Given the description of an element on the screen output the (x, y) to click on. 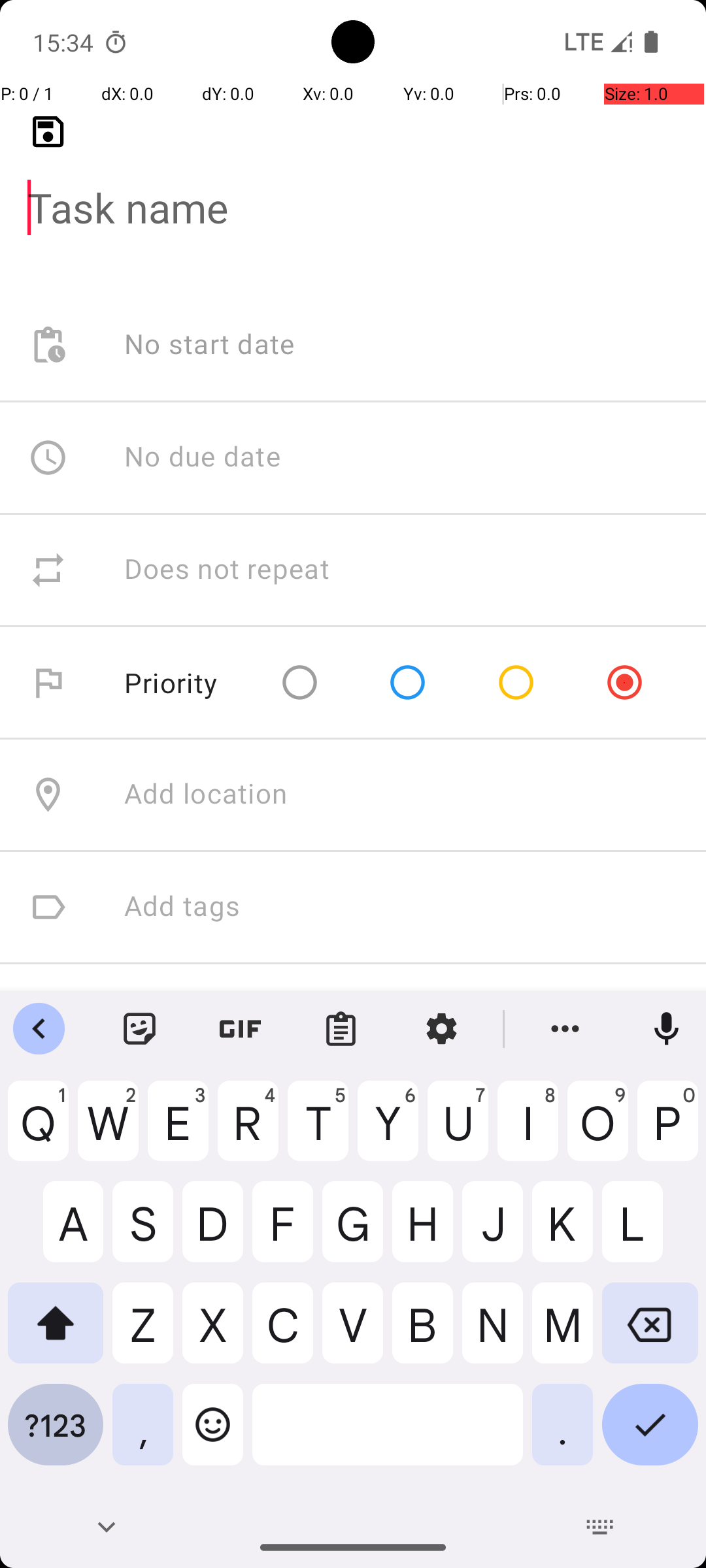
Task name Element type: android.widget.EditText (353, 186)
No due date Element type: android.widget.TextView (202, 457)
